Given the description of an element on the screen output the (x, y) to click on. 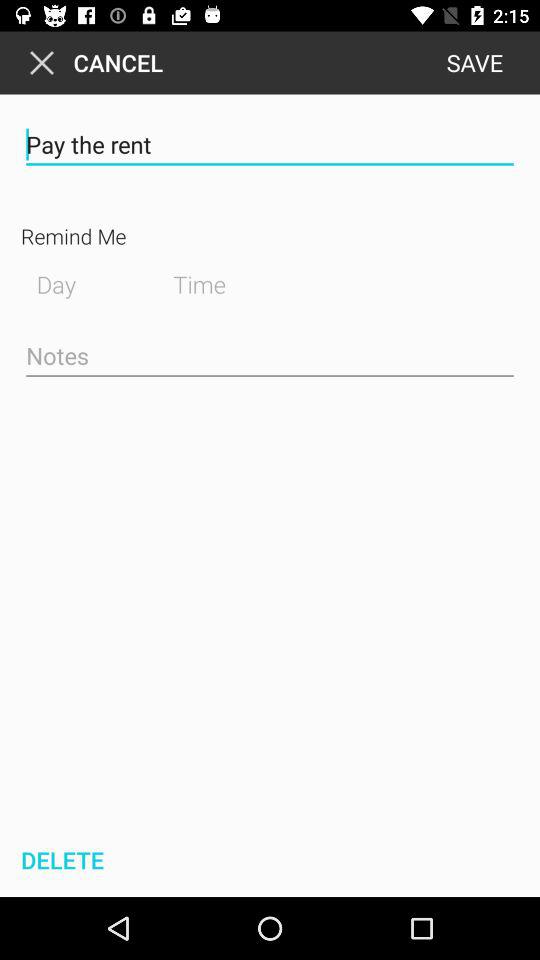
press the icon to the left of time item (78, 281)
